Given the description of an element on the screen output the (x, y) to click on. 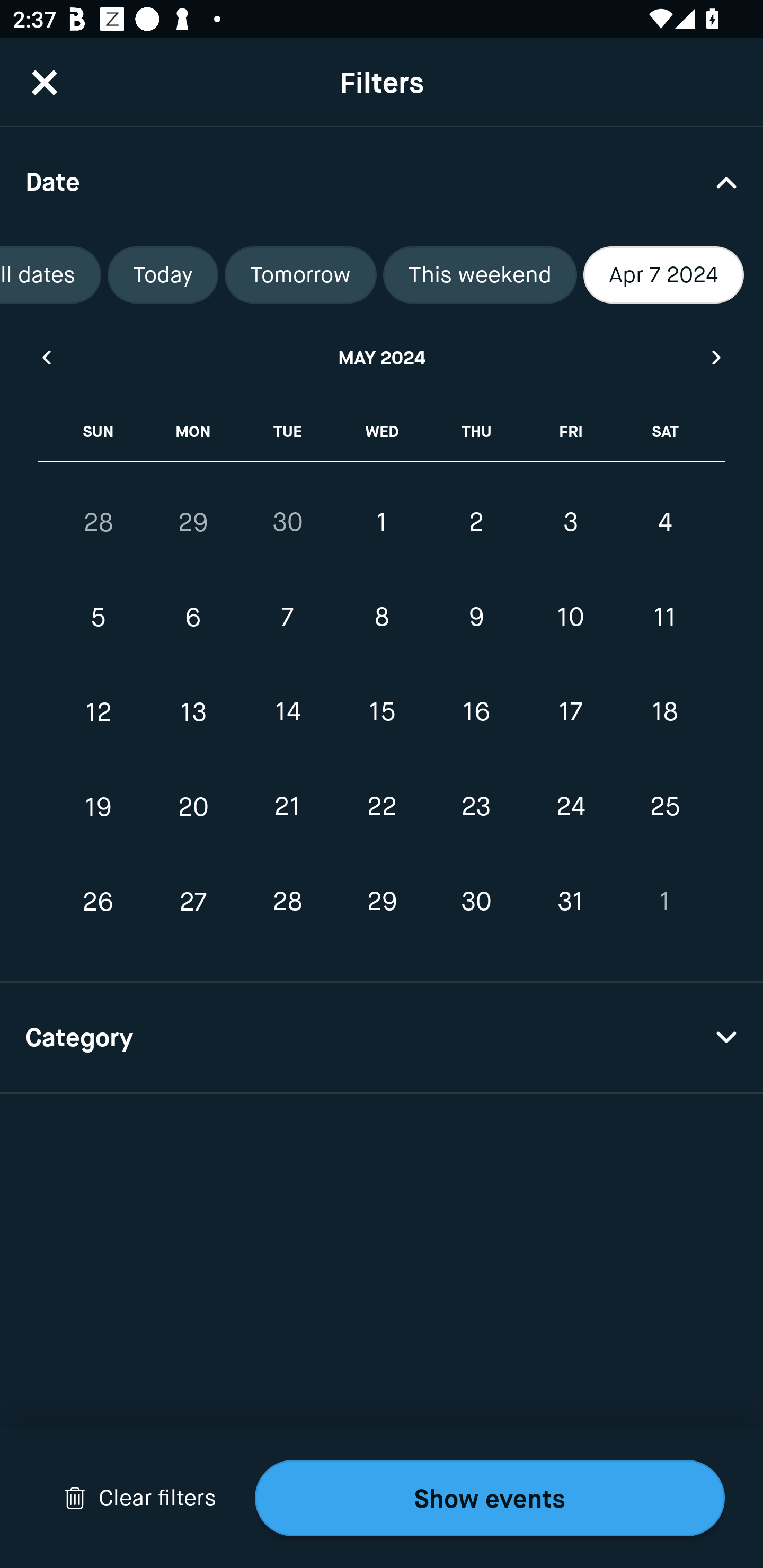
CloseButton (44, 82)
Date Drop Down Arrow (381, 181)
Today (162, 274)
Tomorrow (300, 274)
This weekend (479, 274)
Apr 7 2024 (663, 274)
Previous (45, 357)
Next (717, 357)
28 (98, 522)
29 (192, 522)
30 (287, 522)
1 (381, 522)
2 (475, 522)
3 (570, 522)
4 (664, 522)
5 (98, 617)
6 (192, 617)
7 (287, 617)
8 (381, 617)
9 (475, 617)
10 (570, 617)
11 (664, 617)
12 (98, 711)
13 (192, 711)
14 (287, 711)
15 (381, 711)
16 (475, 711)
17 (570, 711)
18 (664, 711)
19 (98, 806)
20 (192, 806)
21 (287, 806)
22 (381, 806)
23 (475, 806)
24 (570, 806)
25 (664, 806)
26 (98, 901)
27 (192, 901)
28 (287, 901)
29 (381, 901)
30 (475, 901)
31 (570, 901)
1 (664, 901)
Category Drop Down Arrow (381, 1038)
Drop Down Arrow Clear filters (139, 1497)
Show events (489, 1497)
